Given the description of an element on the screen output the (x, y) to click on. 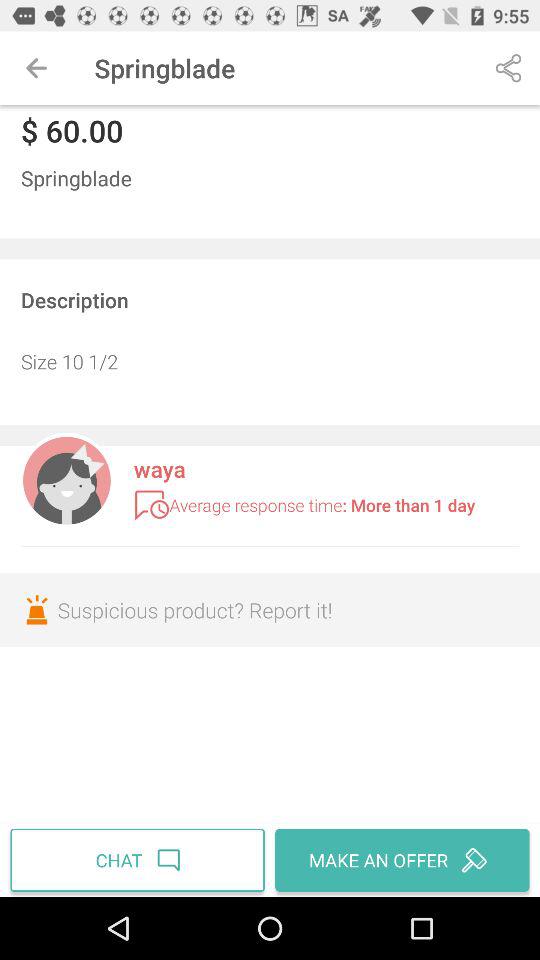
press the item to the left of make an offer icon (139, 860)
